Given the description of an element on the screen output the (x, y) to click on. 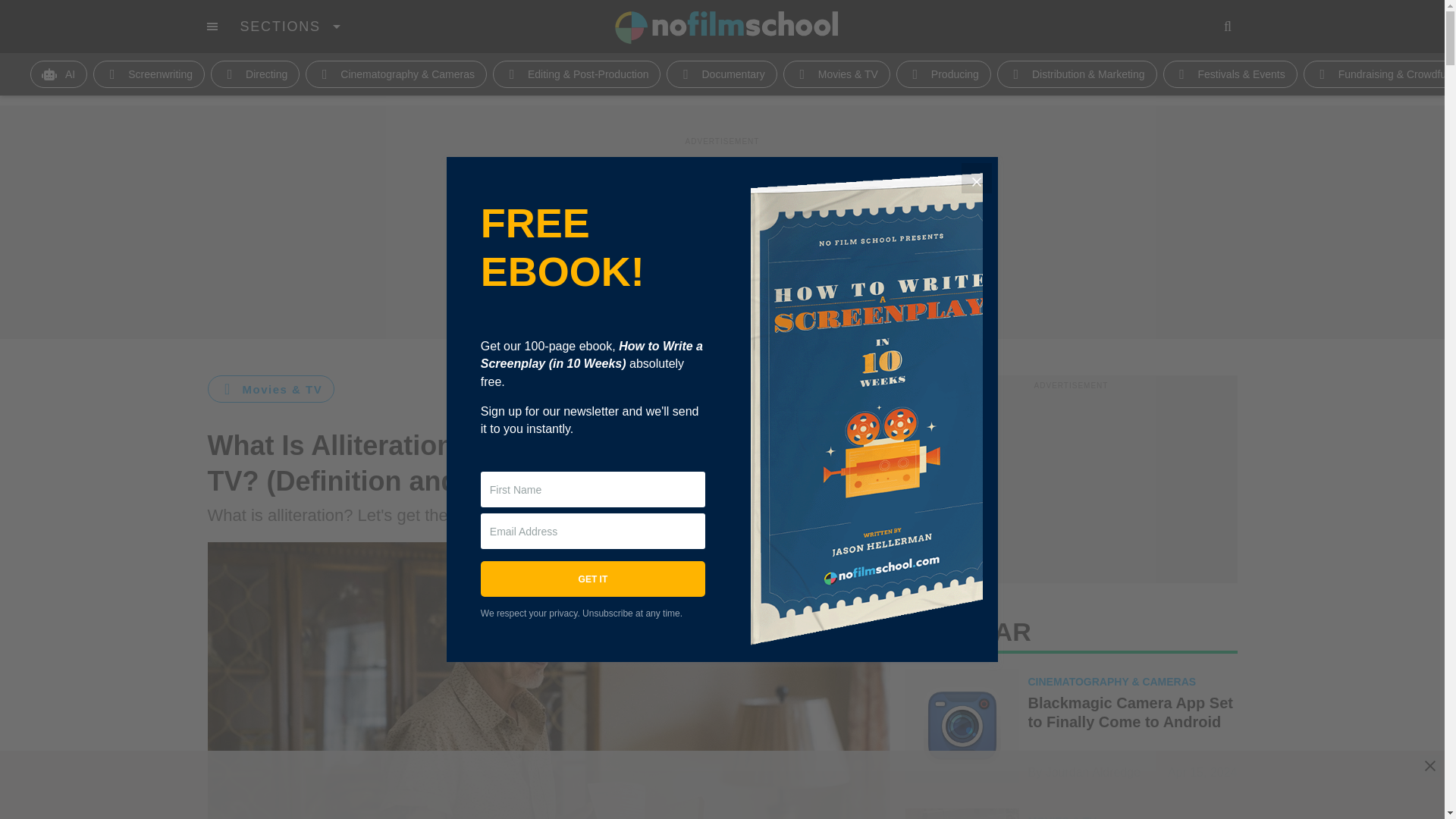
NO FILM SCHOOL (725, 27)
Directing (255, 73)
Producing (943, 73)
SECTIONS (289, 26)
Screenwriting (149, 73)
NO FILM SCHOOL (725, 27)
3rd party ad content (722, 785)
3rd party ad content (1070, 487)
AI (58, 73)
Documentary (721, 73)
